Given the description of an element on the screen output the (x, y) to click on. 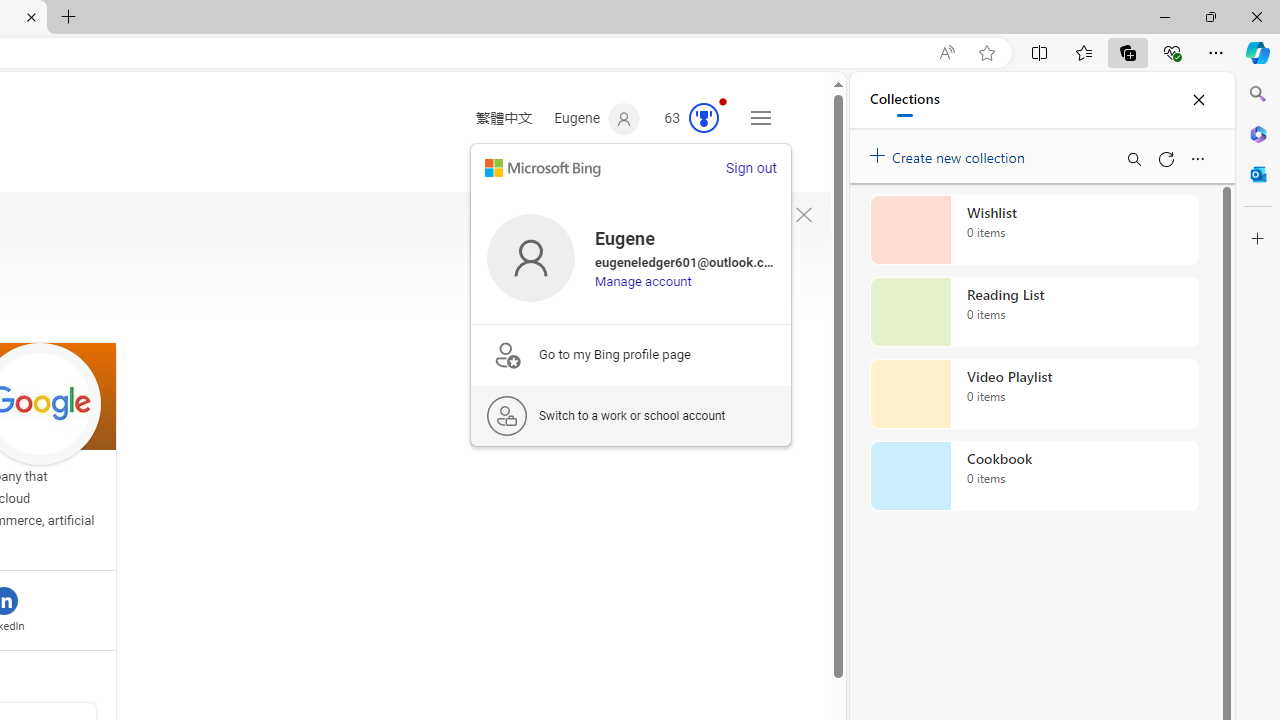
More options menu (1197, 158)
Switch to a work or school account (631, 415)
Eugene (597, 119)
Profile Picture (530, 257)
Create new collection (950, 153)
Settings and quick links (760, 117)
